Given the description of an element on the screen output the (x, y) to click on. 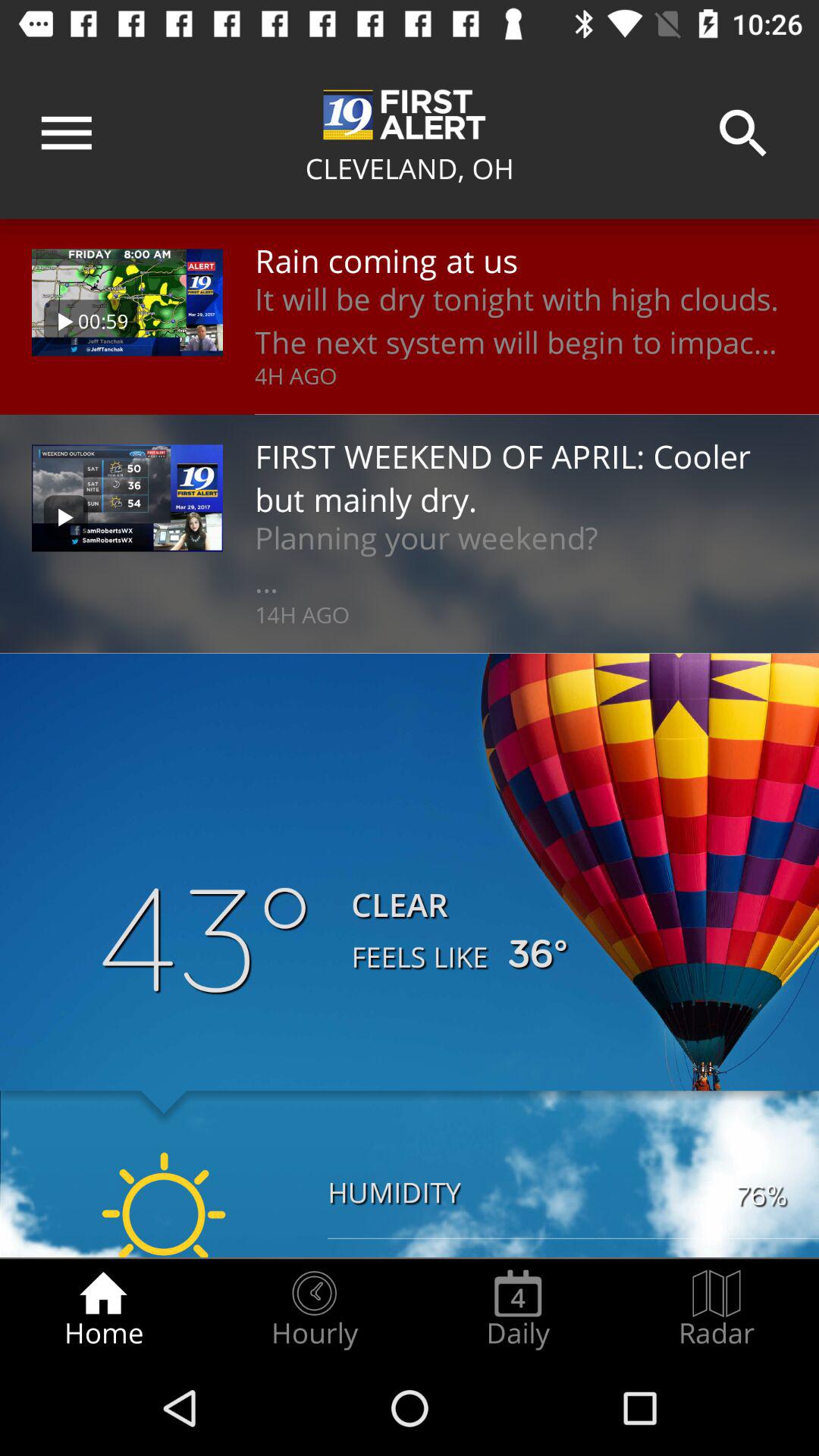
flip until daily (518, 1309)
